Given the description of an element on the screen output the (x, y) to click on. 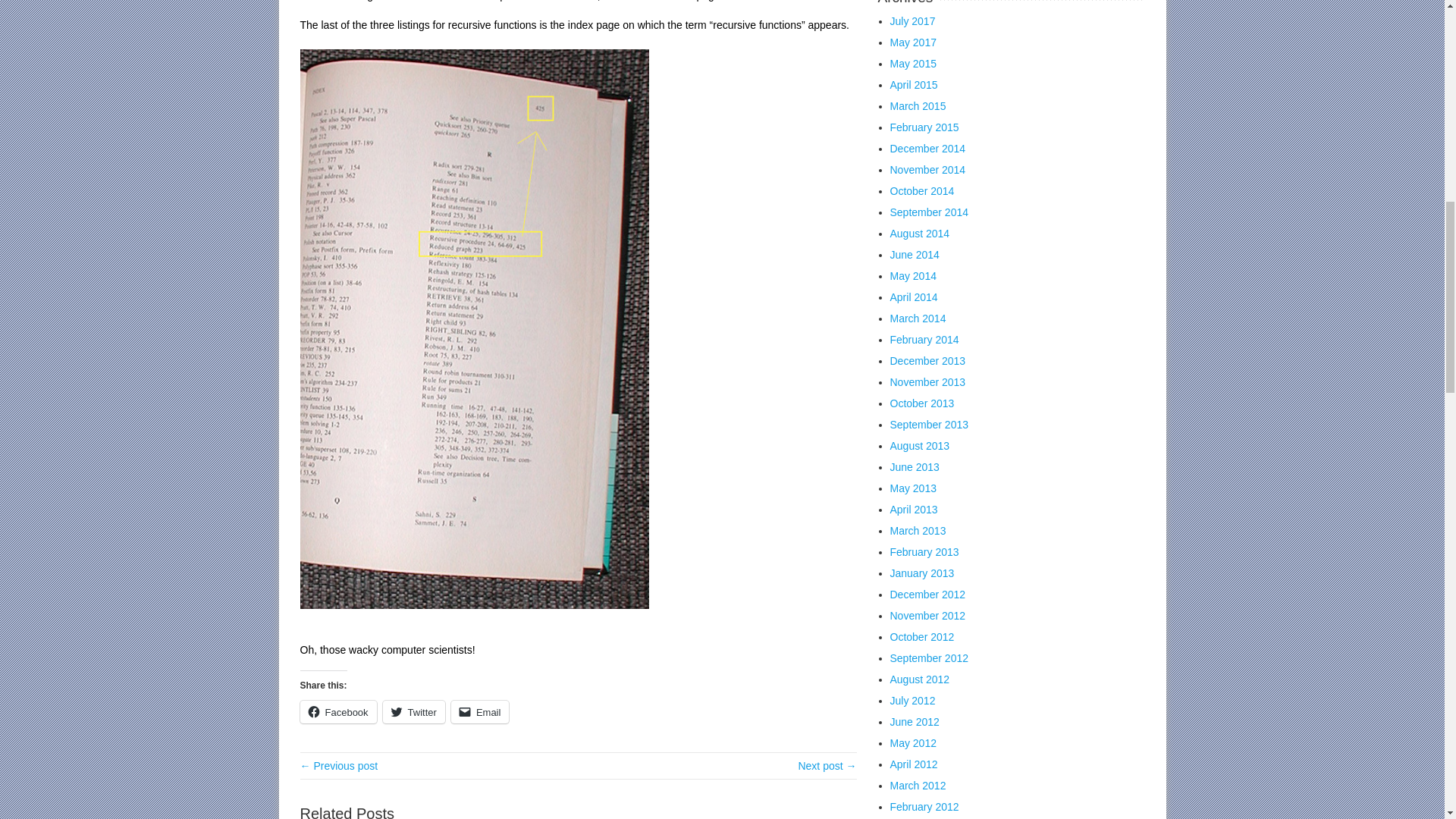
Two Thanksgiving Day traditional foods (826, 766)
Click to share on Twitter (413, 712)
Facebook (338, 712)
Twitter (413, 712)
Changing communication and learning (338, 766)
Click to share on Facebook (338, 712)
Email (480, 712)
Click to email a link to a friend (480, 712)
